Given the description of an element on the screen output the (x, y) to click on. 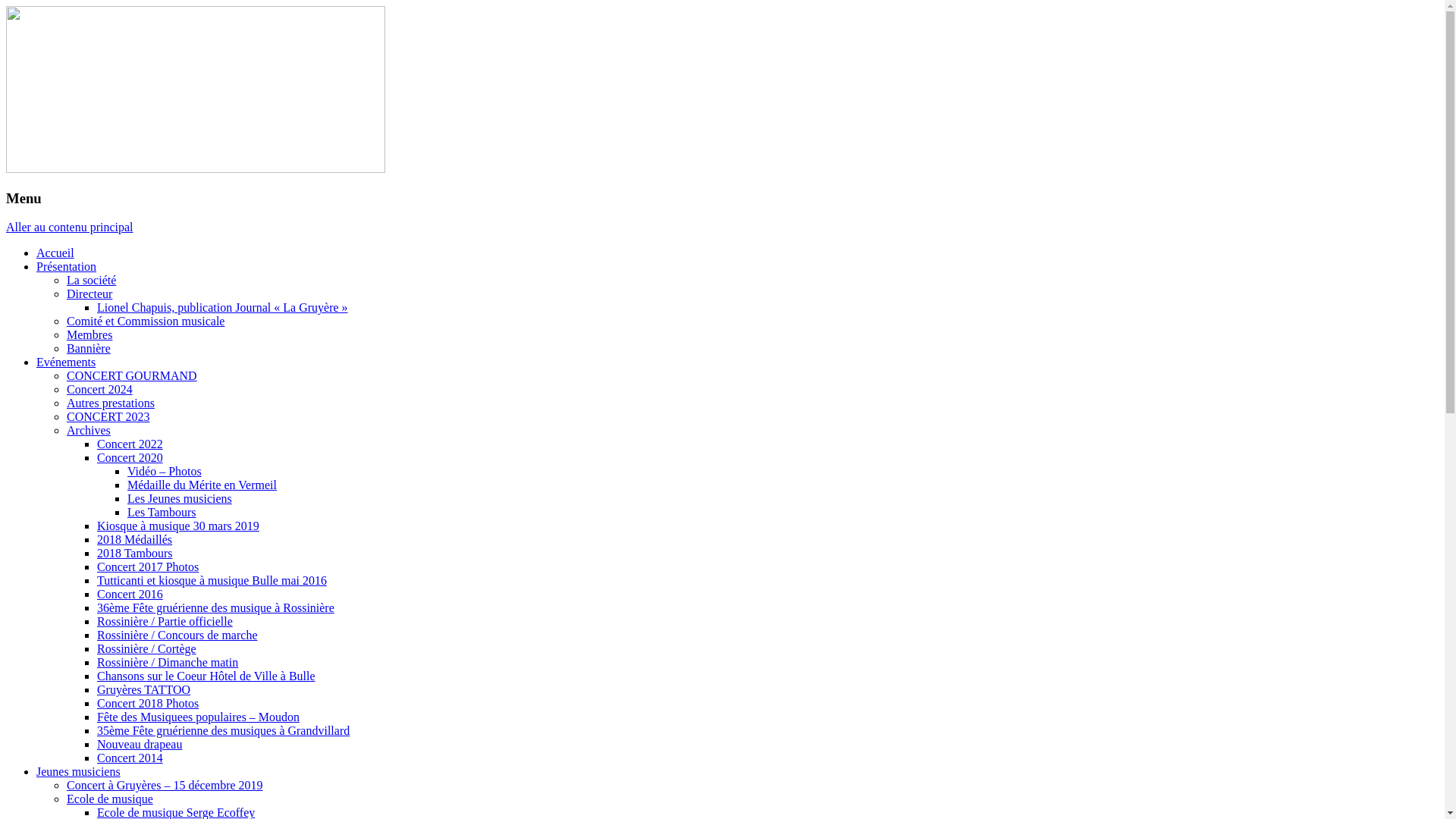
Concert 2024 Element type: text (99, 388)
Concert 2016 Element type: text (130, 593)
Archives Element type: text (88, 429)
Aller au contenu principal Element type: text (69, 226)
Les Jeunes musiciens Element type: text (179, 498)
Fanfare Albeuve-Enney Element type: text (128, 35)
2018 Tambours Element type: text (134, 552)
Jeunes musiciens Element type: text (78, 771)
Autres prestations Element type: text (110, 402)
Concert 2018 Photos Element type: text (147, 702)
CONCERT GOURMAND Element type: text (131, 375)
Directeur Element type: text (89, 293)
Concert 2022 Element type: text (130, 443)
Les Tambours Element type: text (161, 511)
Concert 2020 Element type: text (130, 457)
Nouveau drapeau Element type: text (139, 743)
Concert 2014 Element type: text (130, 757)
Ecole de musique Element type: text (109, 798)
CONCERT 2023 Element type: text (107, 416)
Membres Element type: text (89, 334)
Accueil Element type: text (55, 252)
Concert 2017 Photos Element type: text (147, 566)
